Given the description of an element on the screen output the (x, y) to click on. 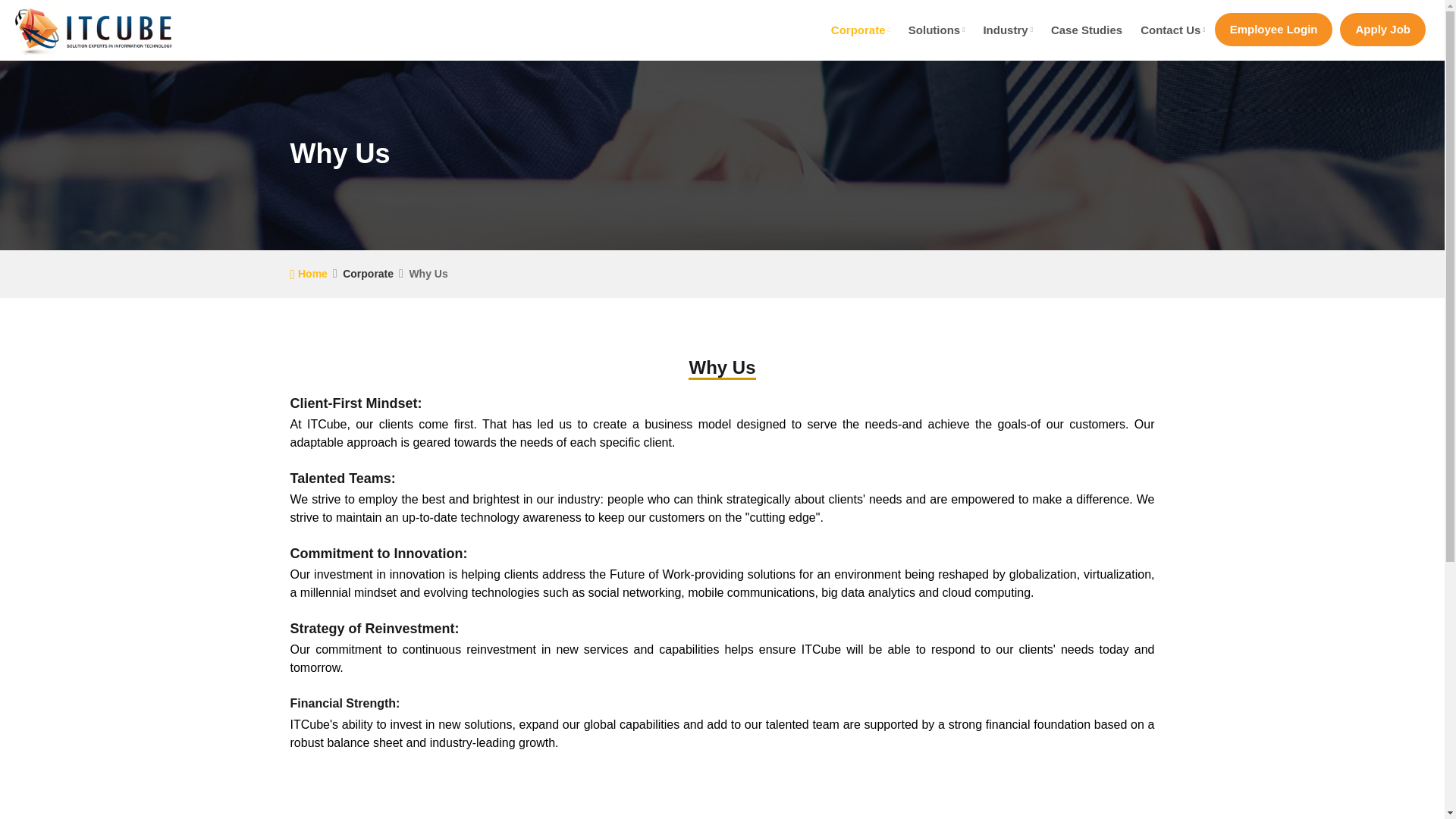
Home (307, 273)
Corporate (860, 30)
Case Studies (1086, 30)
Contact Us (1172, 30)
Industry (1007, 30)
Employee Login (1273, 29)
Solutions (936, 30)
Apply Job (1382, 29)
